Given the description of an element on the screen output the (x, y) to click on. 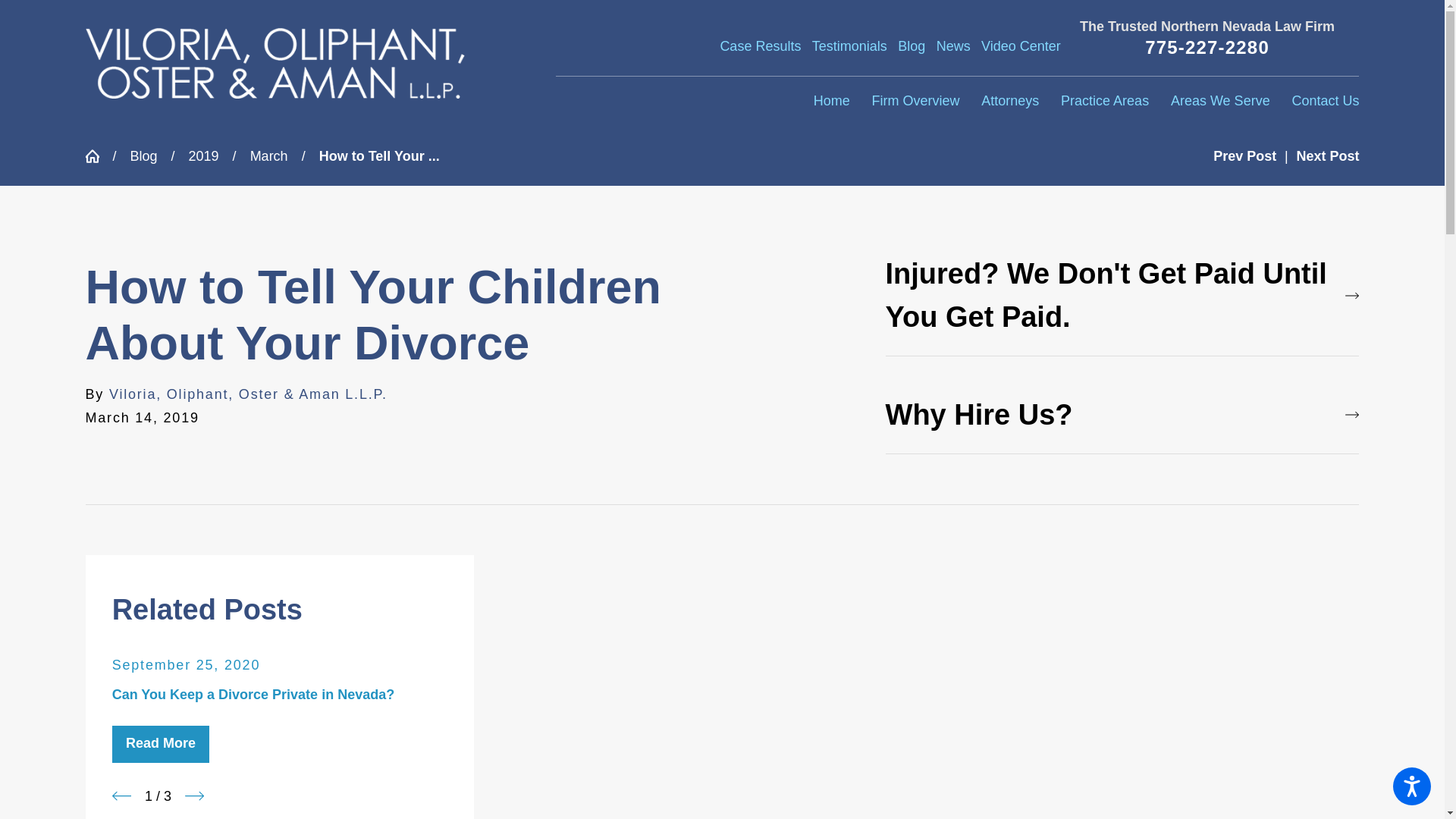
View next item (193, 795)
Testimonials (849, 46)
775-227-2280 (1207, 47)
Go Home (98, 155)
News (953, 46)
Firm Overview (914, 101)
Open the accessibility options menu (1412, 786)
View previous item (121, 795)
Case Results (759, 46)
Video Center (1021, 46)
Blog (911, 46)
Attorneys (1010, 101)
Practice Areas (1104, 101)
